Given the description of an element on the screen output the (x, y) to click on. 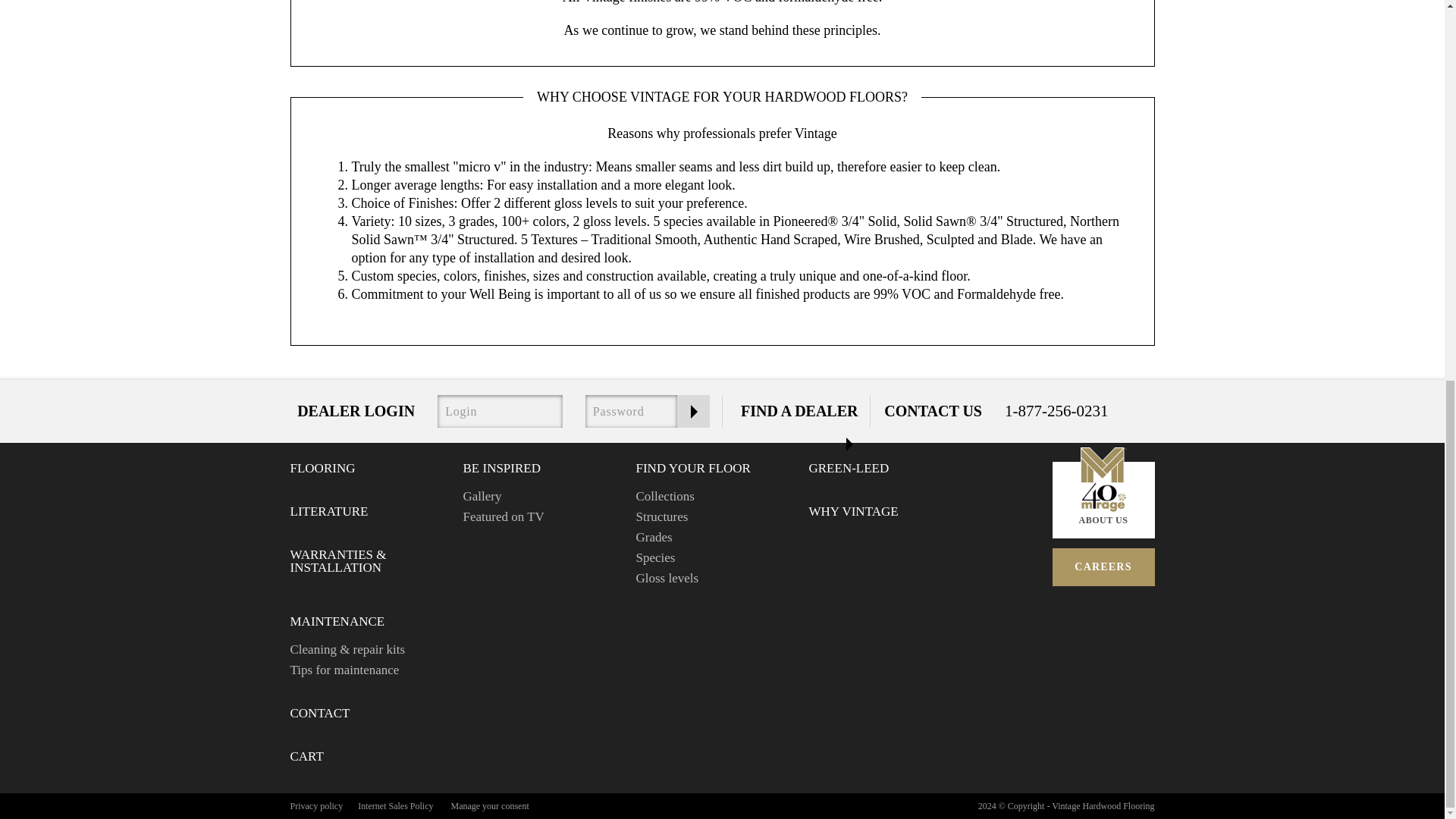
Collections (664, 495)
Featured on TV (503, 516)
LITERATURE (328, 511)
Gallery (481, 495)
FIND A DEALER (799, 410)
FLOORING (322, 468)
Structures (660, 516)
submit (693, 410)
BE INSPIRED (501, 468)
FIND YOUR FLOOR (691, 468)
Species (654, 557)
Grades (652, 536)
